Given the description of an element on the screen output the (x, y) to click on. 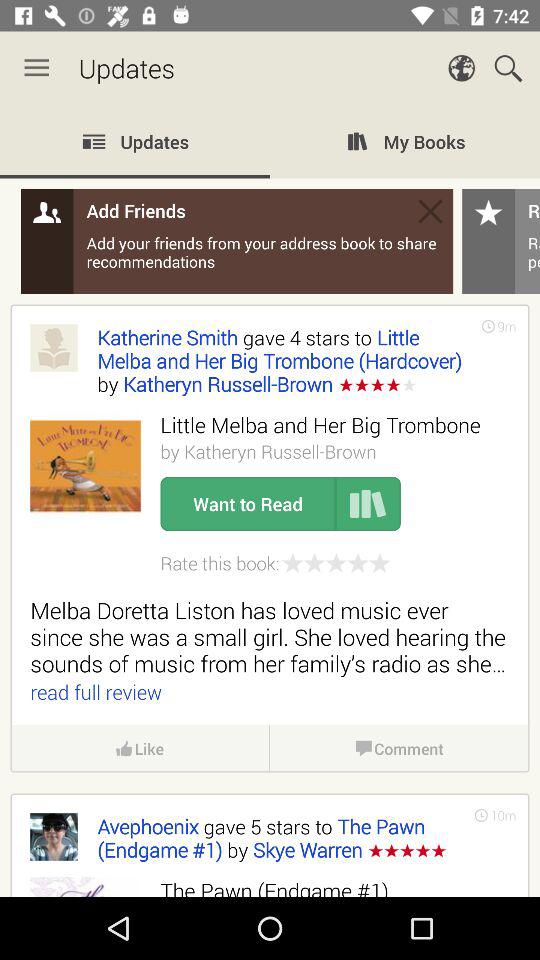
close the message (430, 211)
